Given the description of an element on the screen output the (x, y) to click on. 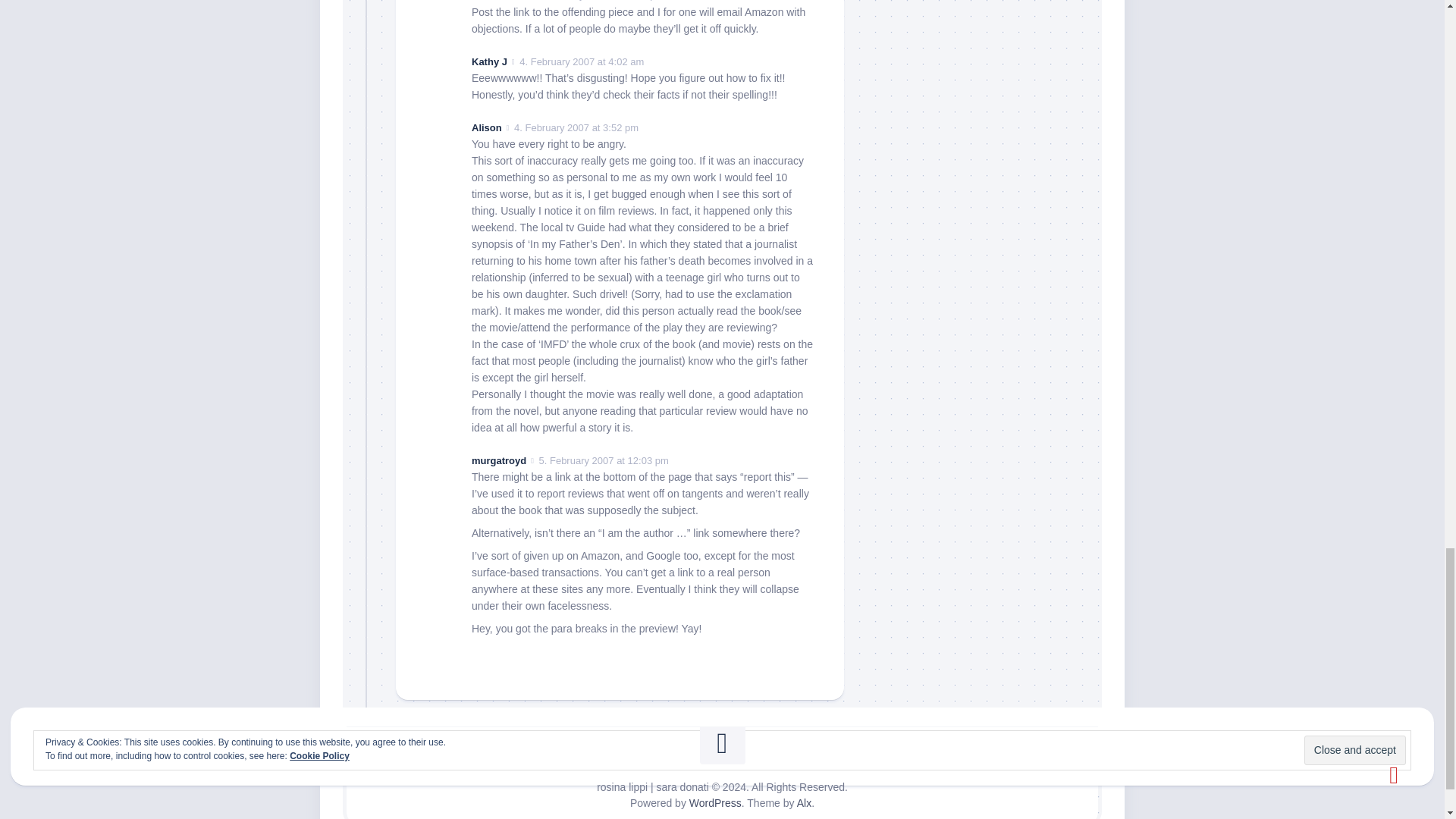
murgatroyd (498, 460)
Keziah Hill (496, 0)
4. February 2007 at 4:02 am (581, 61)
5. February 2007 at 12:03 pm (603, 460)
4. February 2007 at 3:52 pm (576, 127)
